Given the description of an element on the screen output the (x, y) to click on. 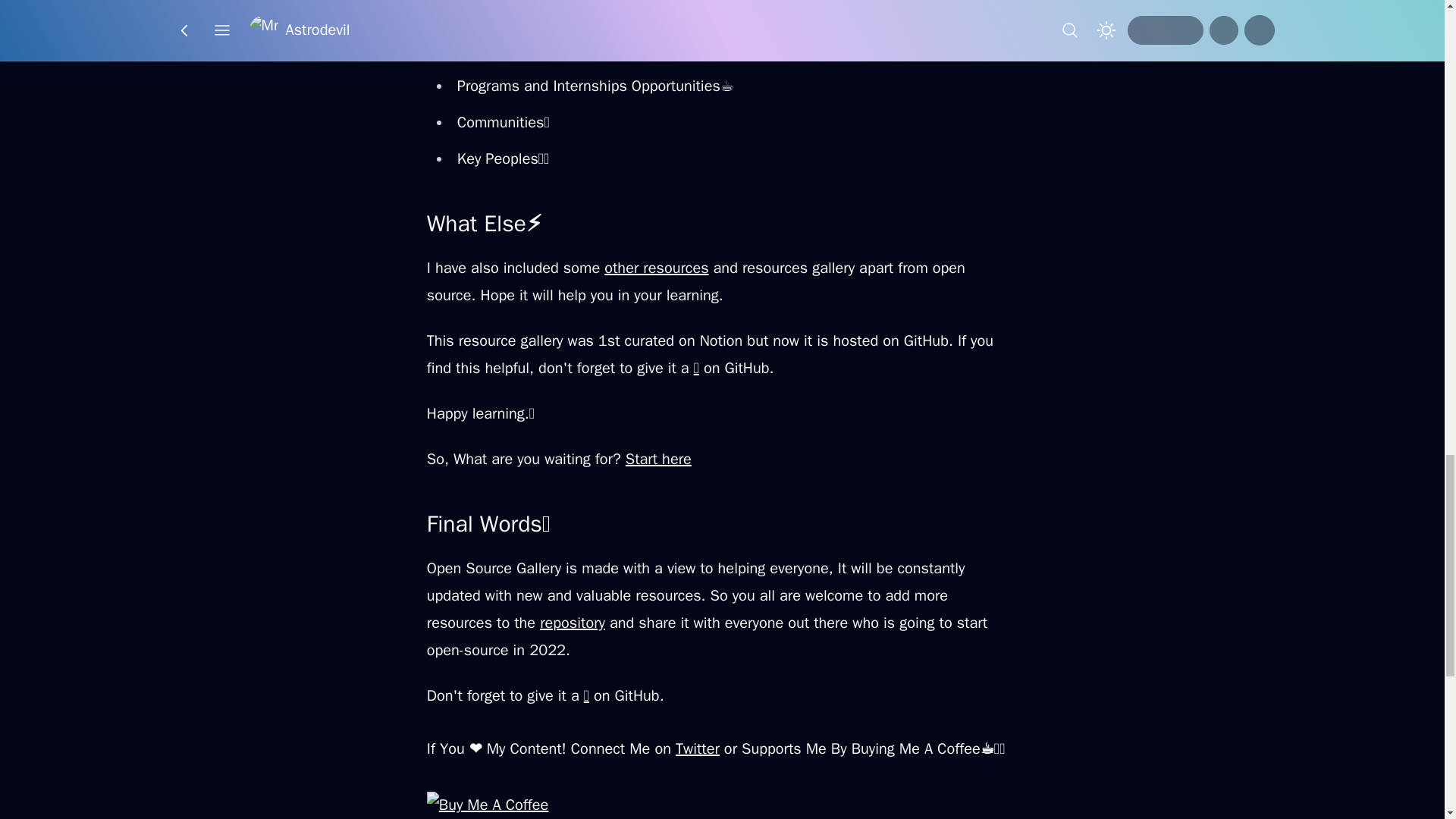
Start here (658, 458)
repository (572, 622)
other resources (655, 267)
Twitter (697, 748)
